Given the description of an element on the screen output the (x, y) to click on. 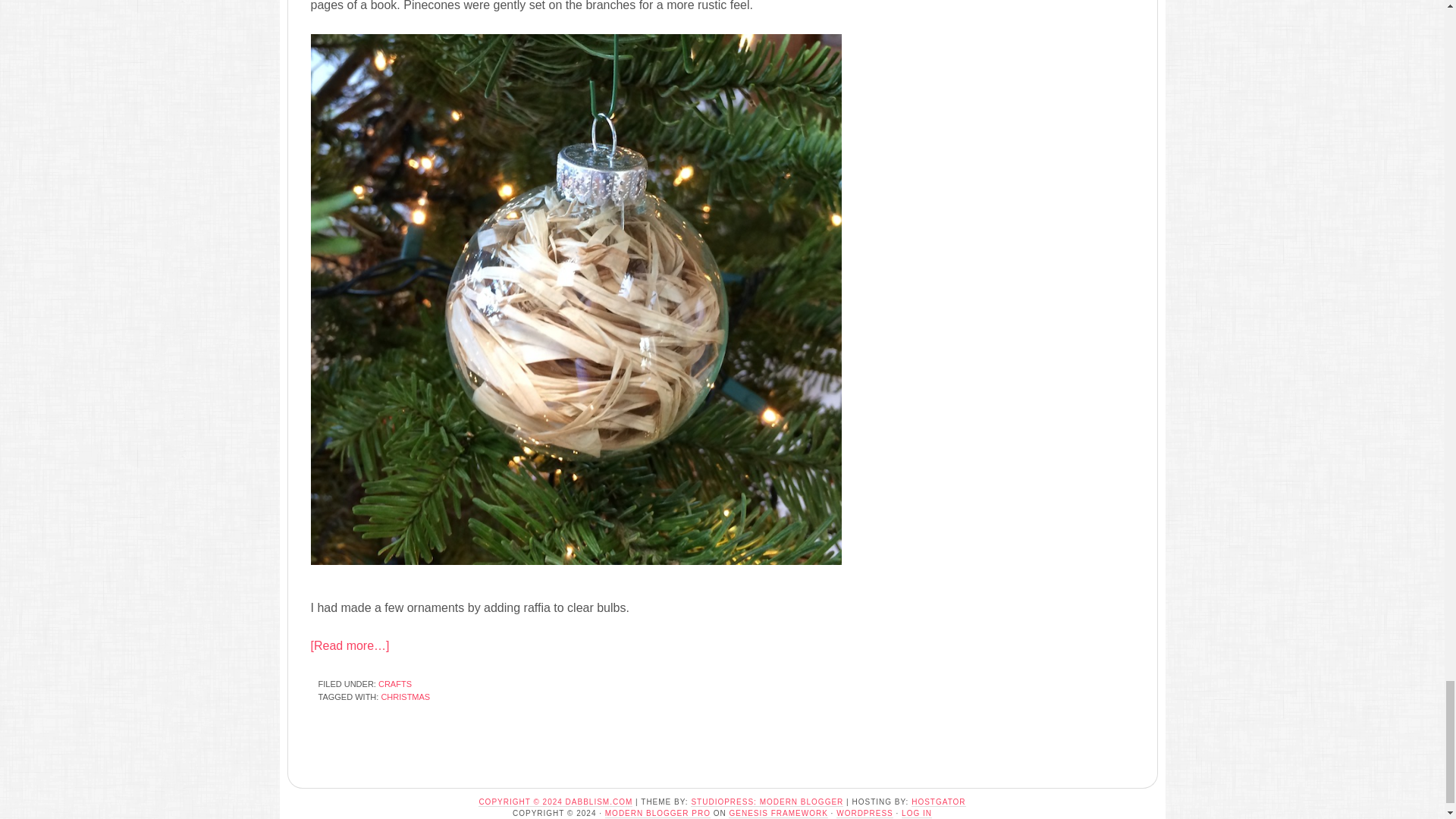
CHRISTMAS (404, 696)
CRAFTS (395, 683)
